Given the description of an element on the screen output the (x, y) to click on. 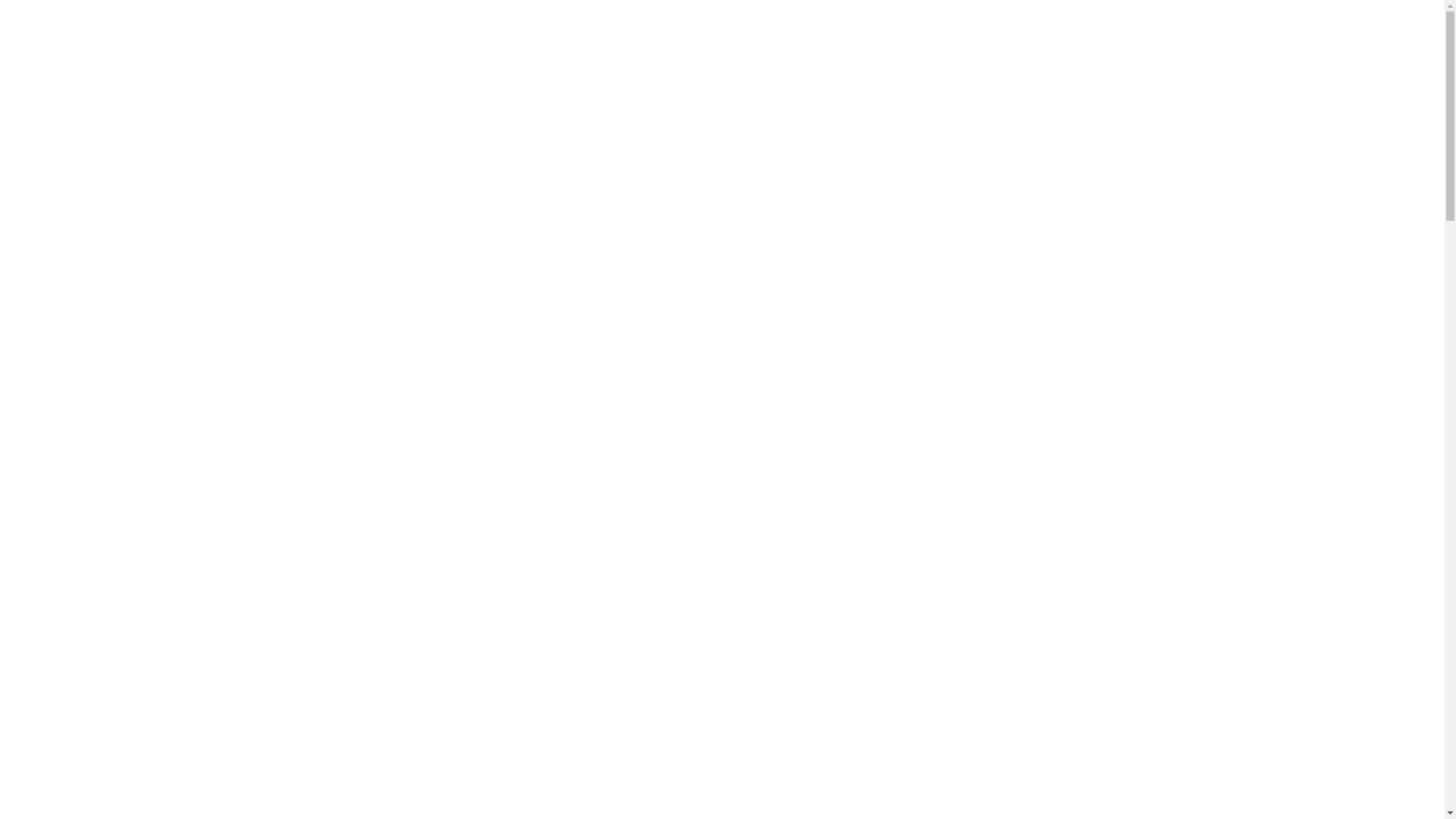
About Element type: text (1014, 33)
Newsletter Element type: text (1346, 33)
Open Call Element type: text (1164, 33)
3000 peaks Element type: text (103, 33)
